Given the description of an element on the screen output the (x, y) to click on. 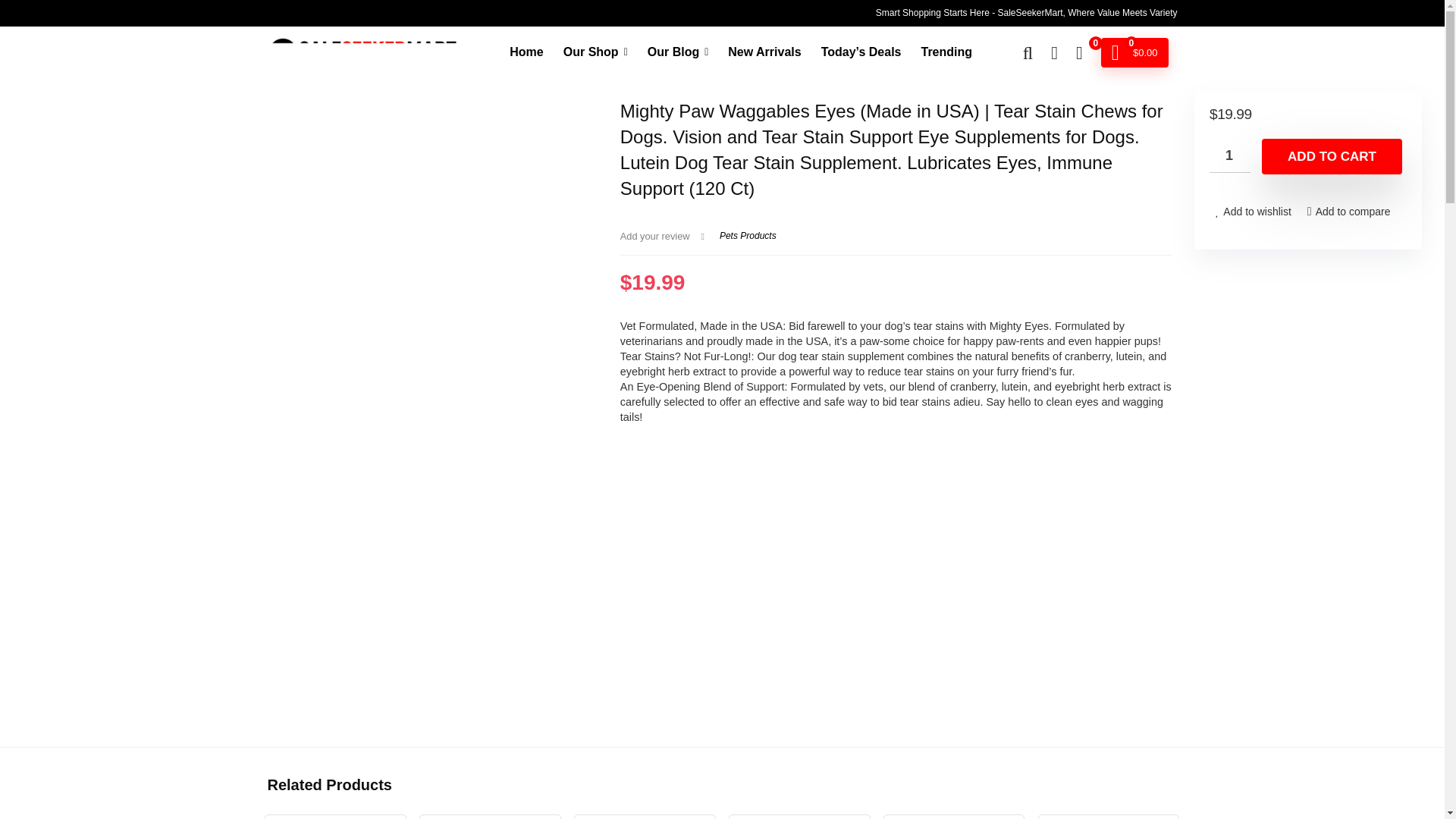
1 (1229, 155)
Add your review (655, 235)
View all posts in Pets Products (747, 235)
Home (526, 52)
Our Shop (595, 52)
